Given the description of an element on the screen output the (x, y) to click on. 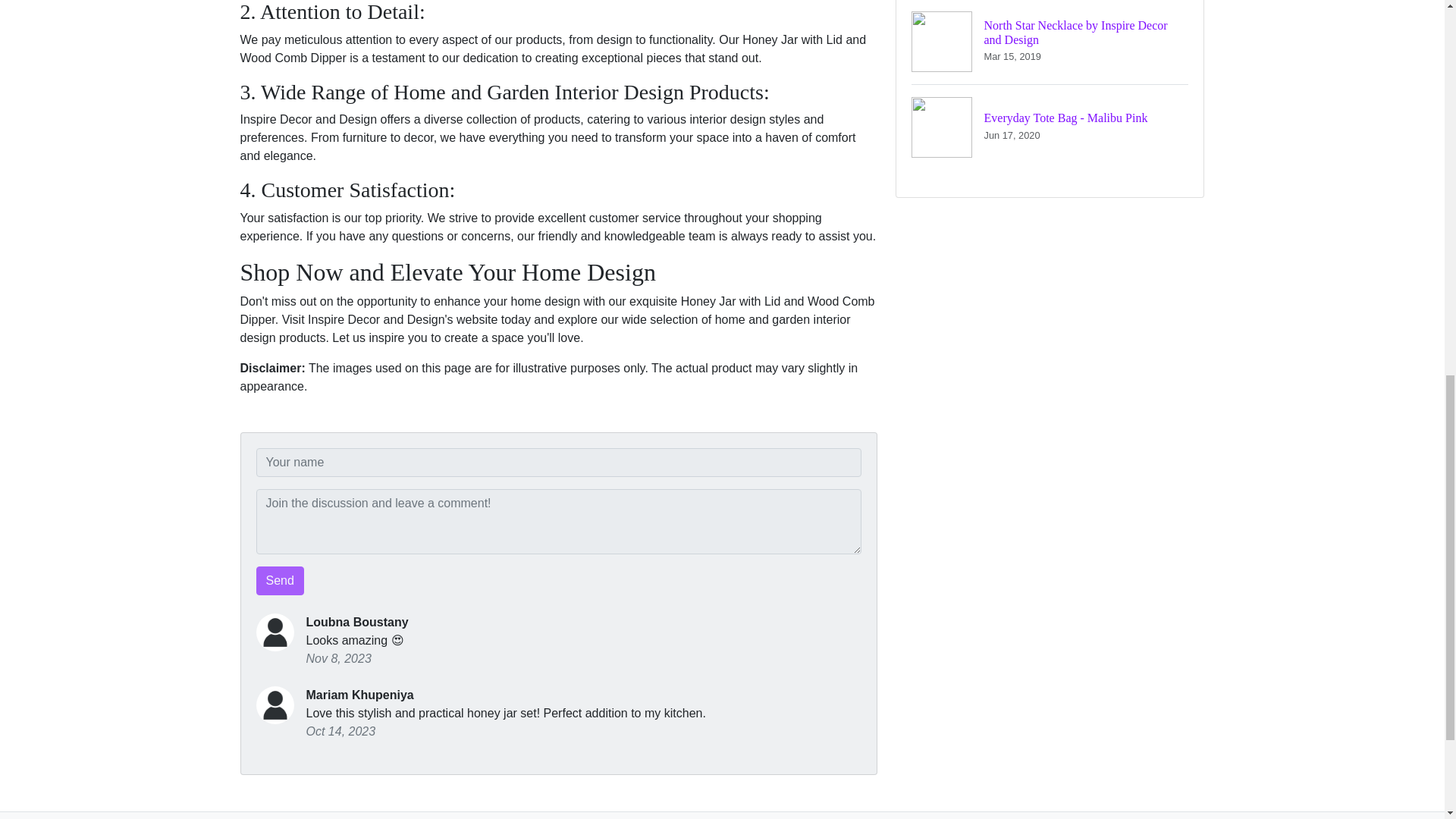
Send (280, 580)
Send (1050, 42)
